Given the description of an element on the screen output the (x, y) to click on. 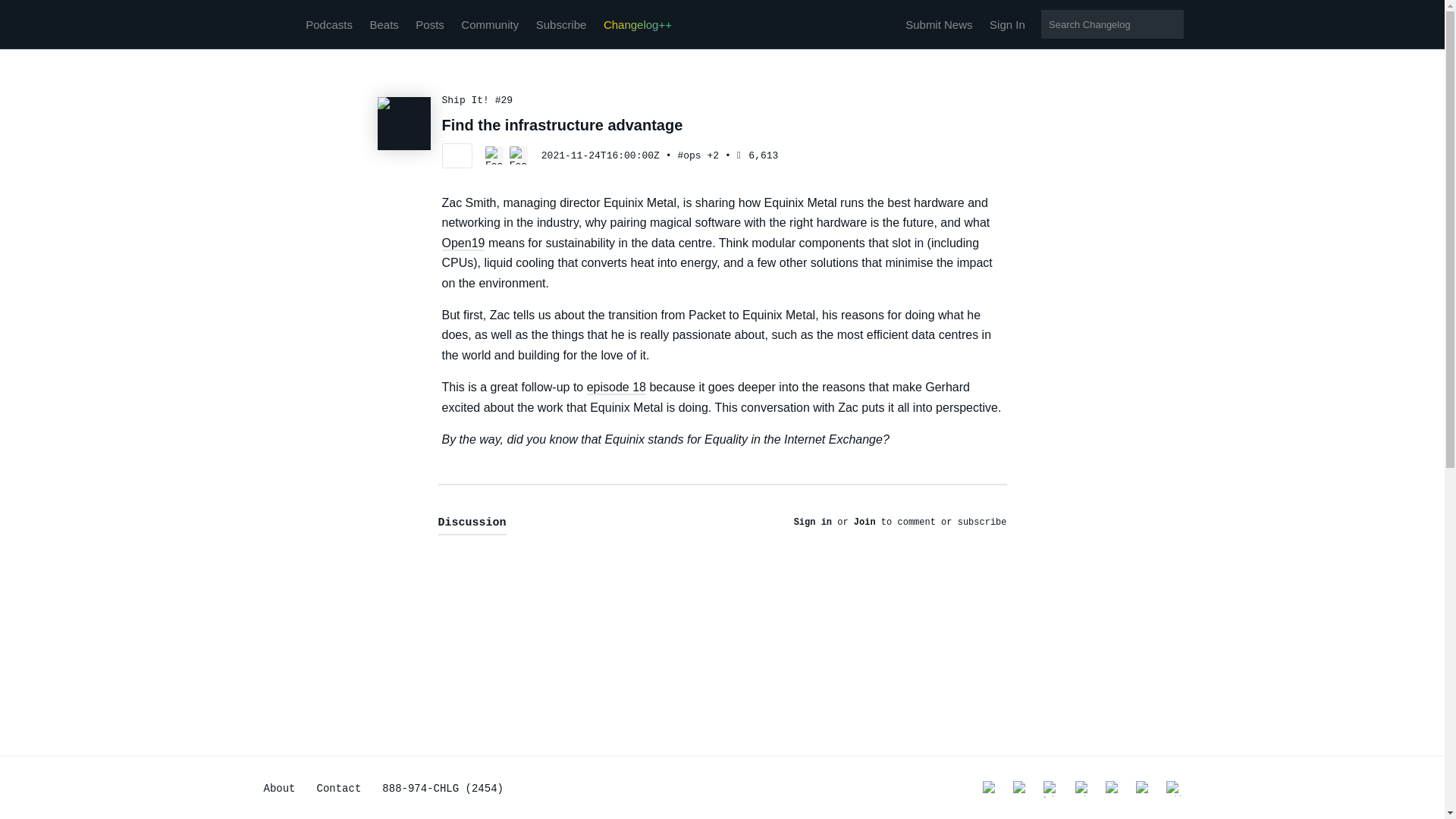
Changelog Posts (429, 24)
Gerhard Lazu (518, 161)
Podcasts (328, 24)
Zac Smith (496, 161)
Submit News (938, 24)
Sign In (1007, 24)
Sign in (812, 521)
Changelog Community (489, 24)
Find the infrastructure advantage (561, 125)
Open19 (462, 243)
Ship It! (403, 123)
About (279, 788)
Submit News (938, 24)
Play Episode (456, 155)
Sign In (1007, 24)
